Given the description of an element on the screen output the (x, y) to click on. 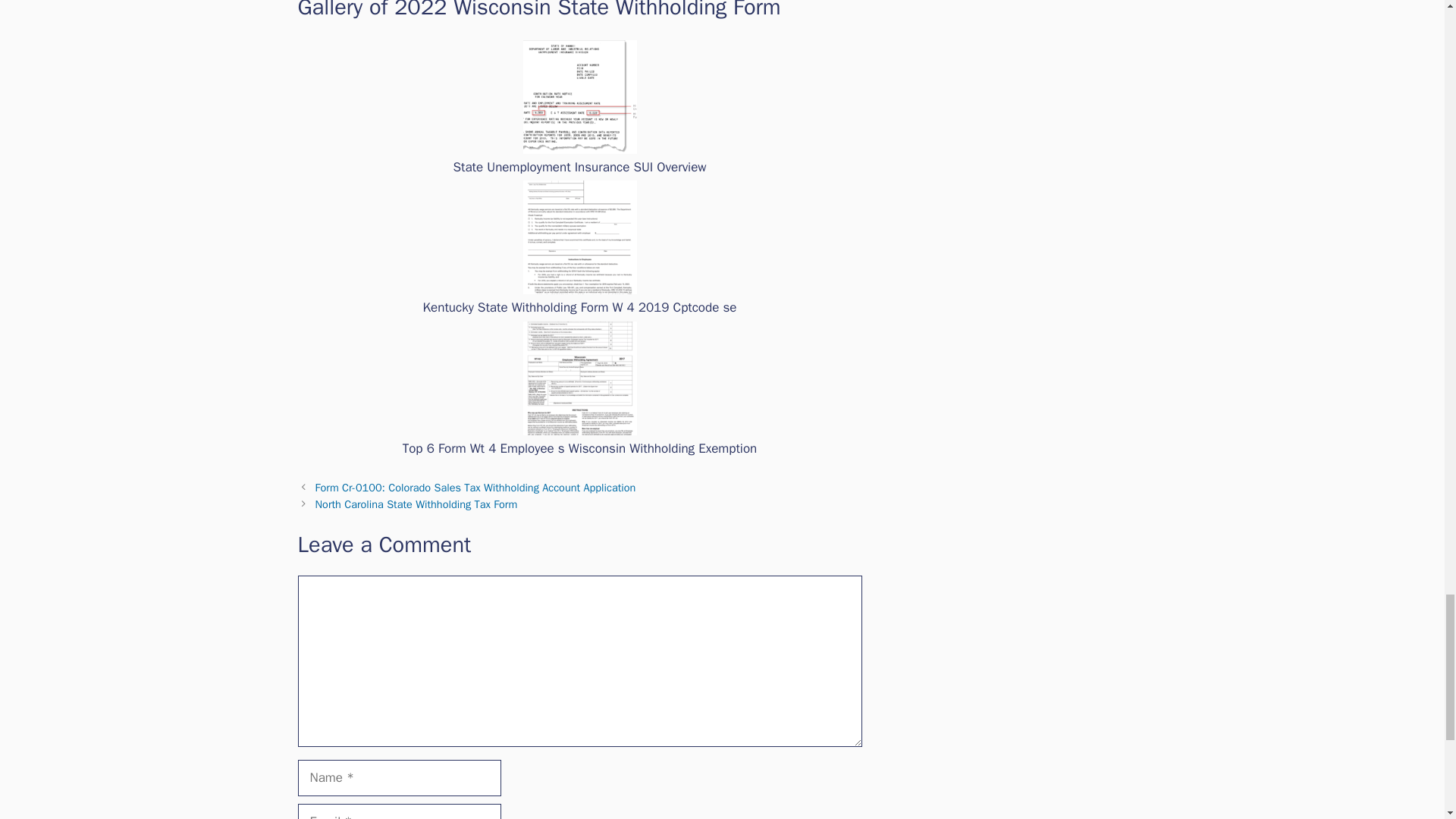
North Carolina State Withholding Tax Form (416, 504)
